Given the description of an element on the screen output the (x, y) to click on. 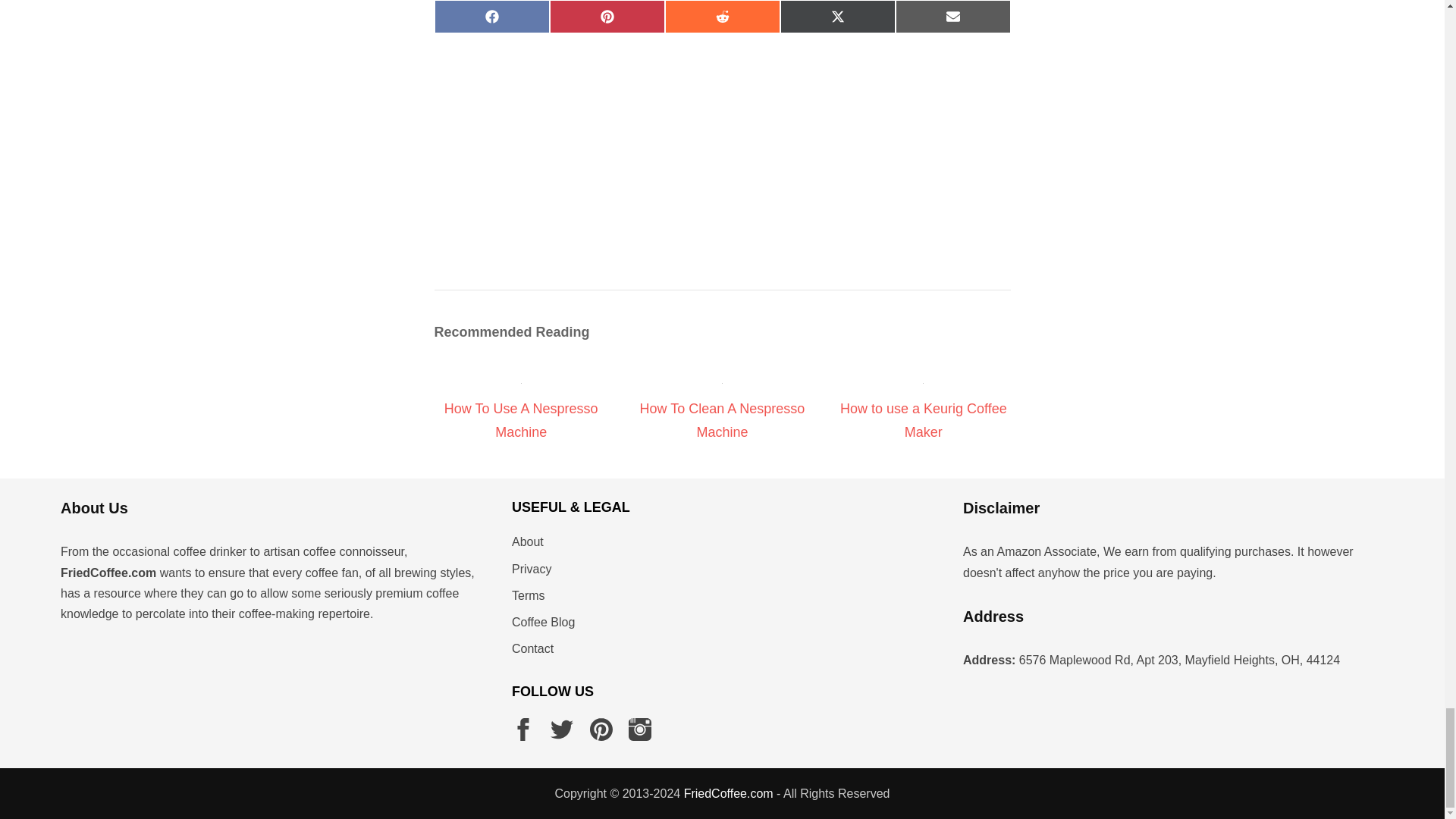
Friedcoffee at Twitter. (561, 729)
Friedcoffee page at Facebook. (523, 729)
Friedcoffee.com (728, 793)
Our Instagram Page. (639, 729)
Friedcoffee at Pinterest. (600, 729)
